Given the description of an element on the screen output the (x, y) to click on. 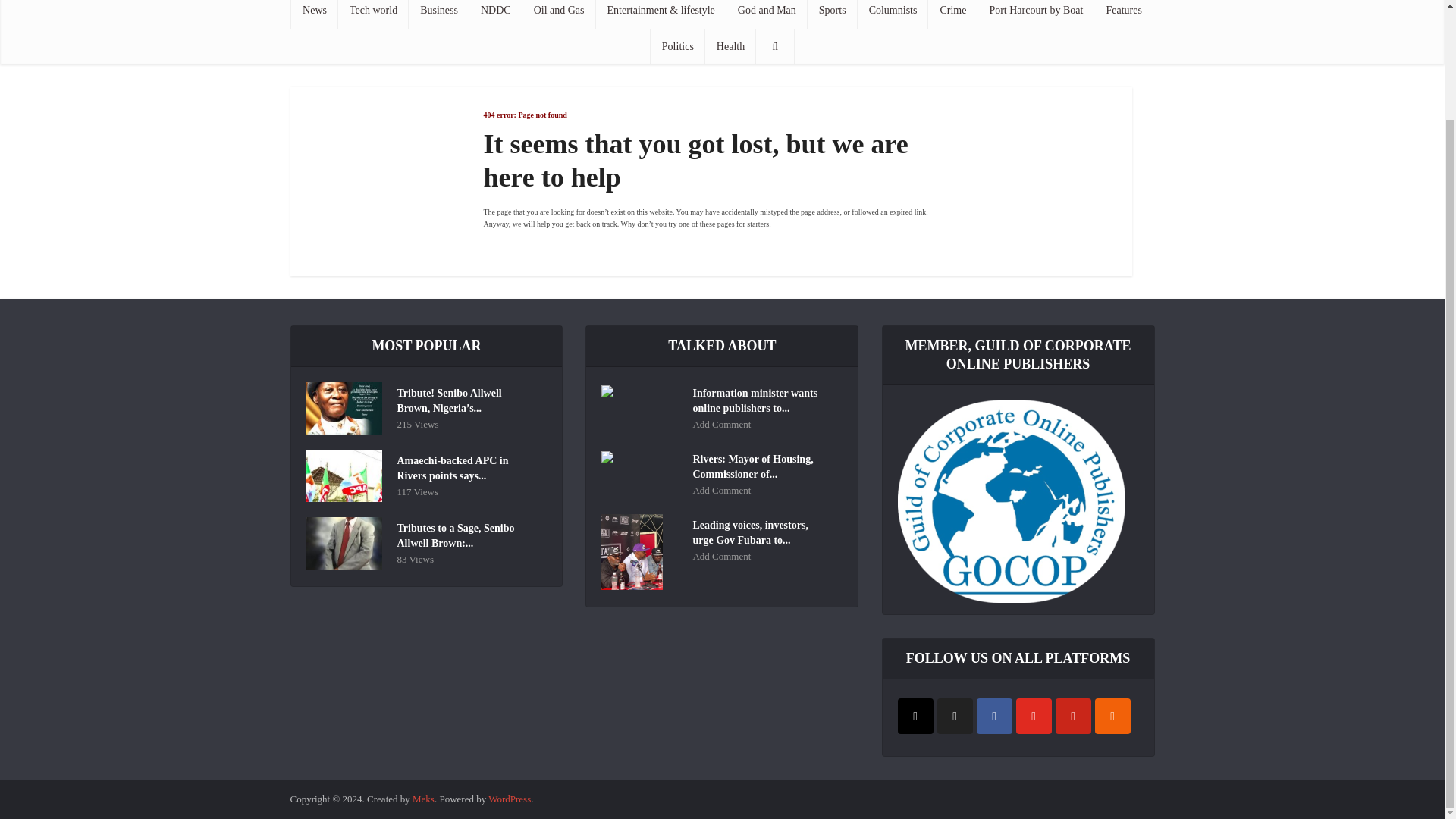
Oil and Gas (558, 14)
Crime (952, 14)
Sports (832, 14)
Columnists (892, 14)
God and Man (767, 14)
Facebook (993, 715)
Instagram (915, 715)
NDDC (495, 14)
Tech world (373, 14)
Health (729, 46)
Features (1123, 14)
Pinterest (1072, 715)
